Given the description of an element on the screen output the (x, y) to click on. 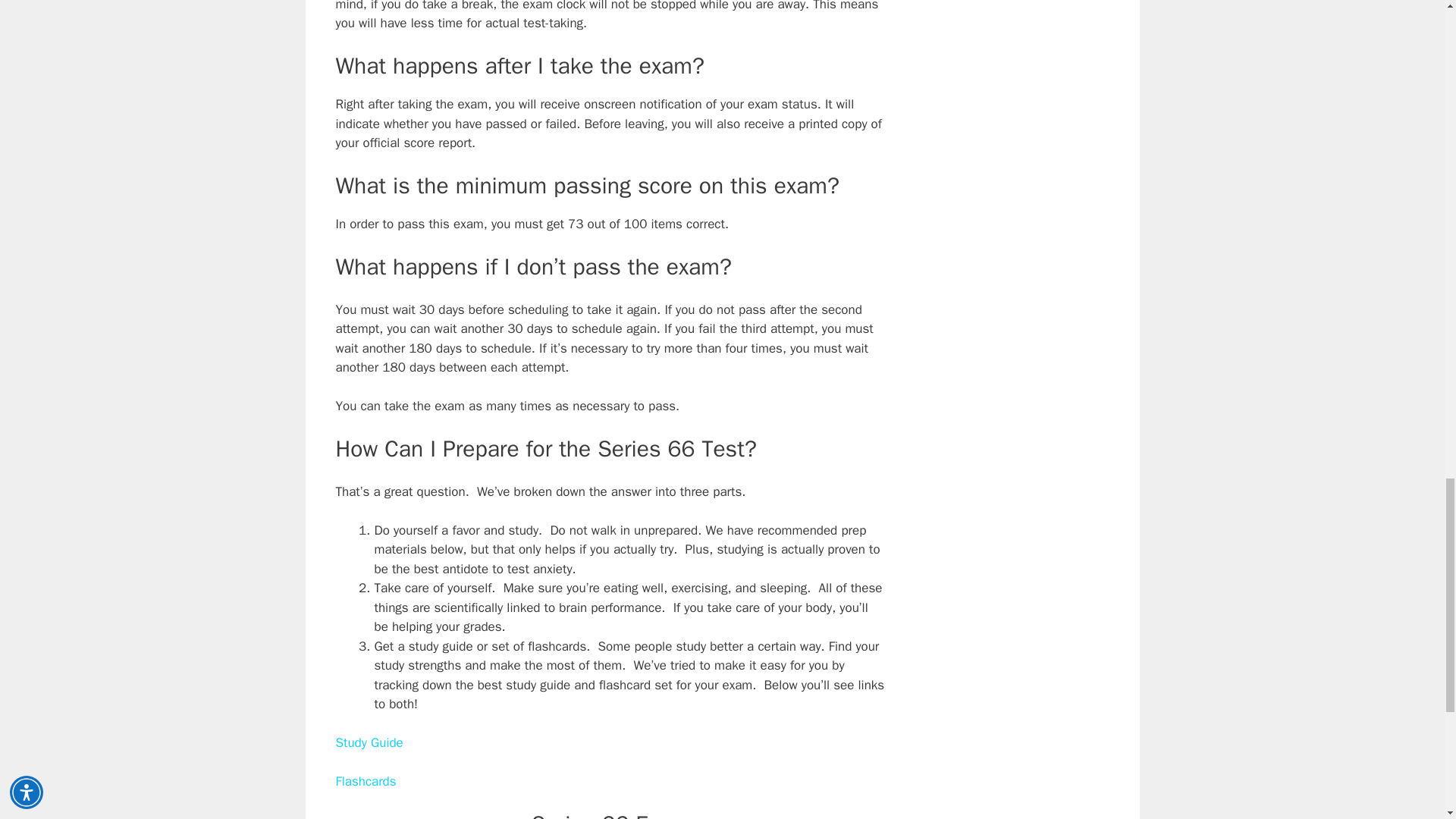
Study Guide (368, 742)
Flashcards (365, 781)
